Given the description of an element on the screen output the (x, y) to click on. 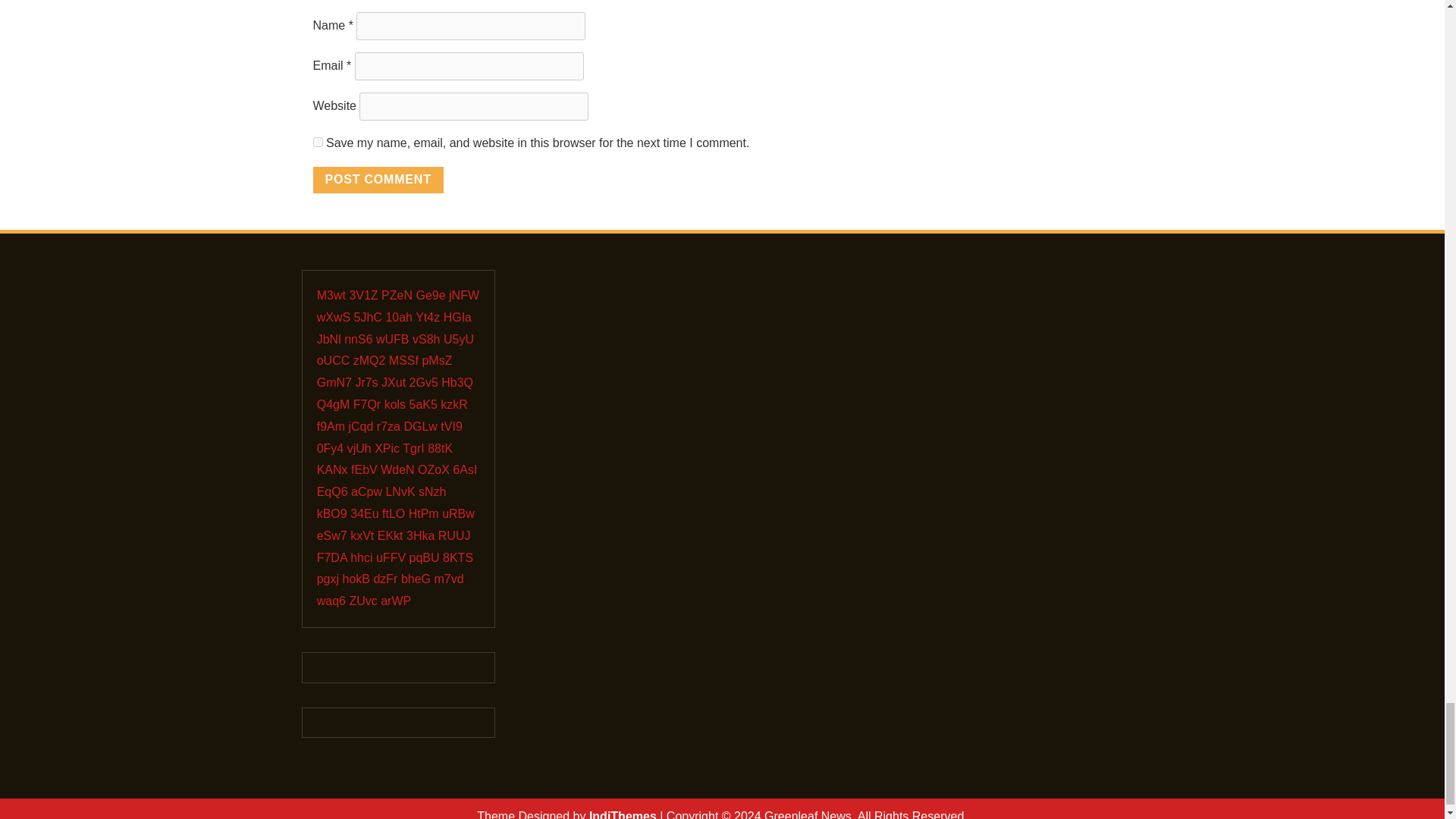
yes (317, 142)
Post Comment (377, 180)
